Given the description of an element on the screen output the (x, y) to click on. 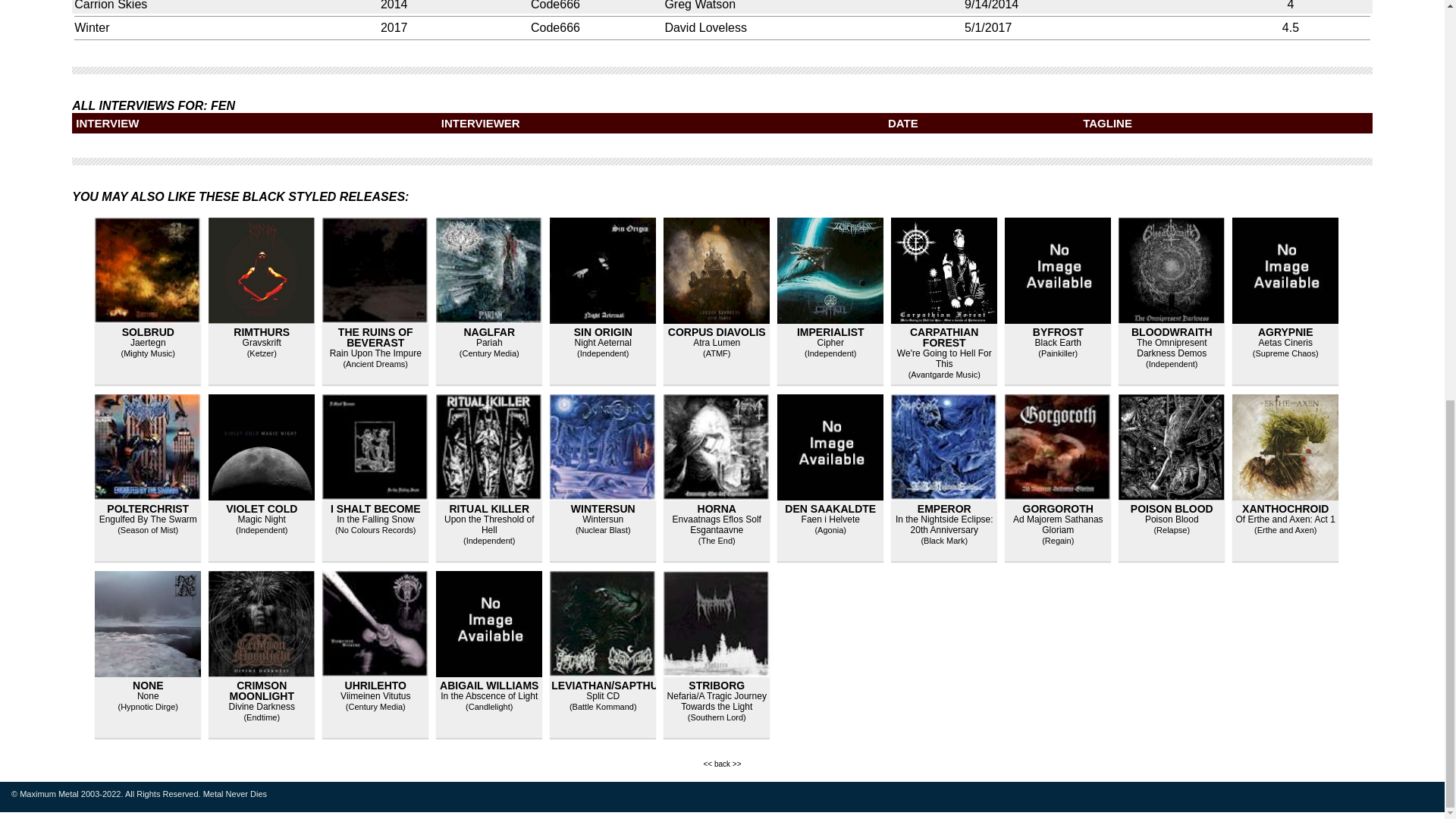
SOLBRUD (148, 331)
Gravskrift (262, 342)
NAGLFAR (489, 331)
THE RUINS OF BEVERAST (375, 336)
Carrion Skies (110, 5)
SIN ORIGIN (602, 331)
IMPERIALIST (830, 331)
Pariah (489, 342)
Cipher (830, 342)
Winter (91, 27)
BYFROST (1057, 331)
Black Earth (1058, 342)
RIMTHURS (260, 331)
We're Going to Hell For This (943, 358)
Night Aeternal (603, 342)
